Given the description of an element on the screen output the (x, y) to click on. 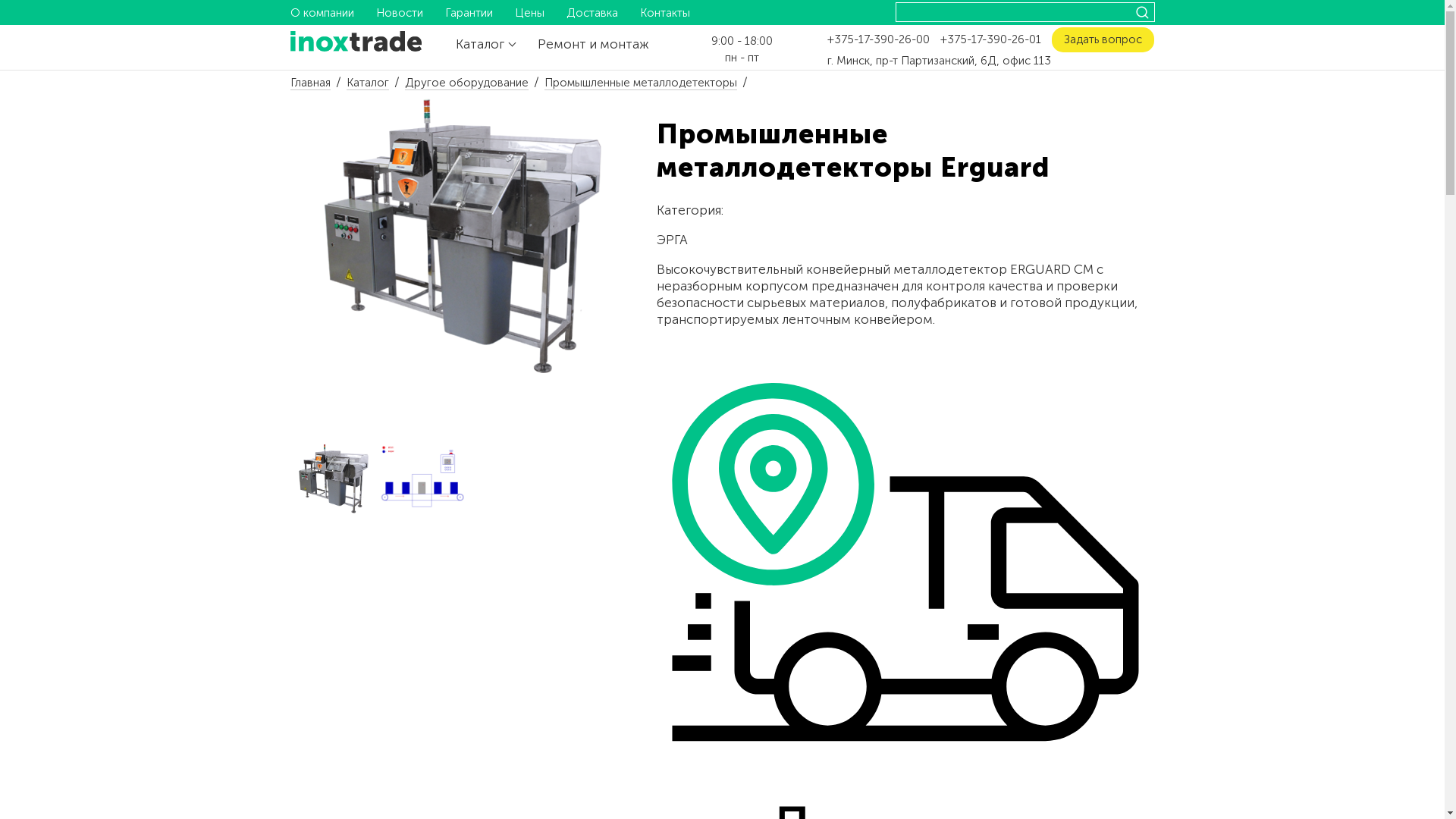
+375-17-390-26-00 Element type: text (878, 39)
+375-17-390-26-01 Element type: text (990, 39)
